Given the description of an element on the screen output the (x, y) to click on. 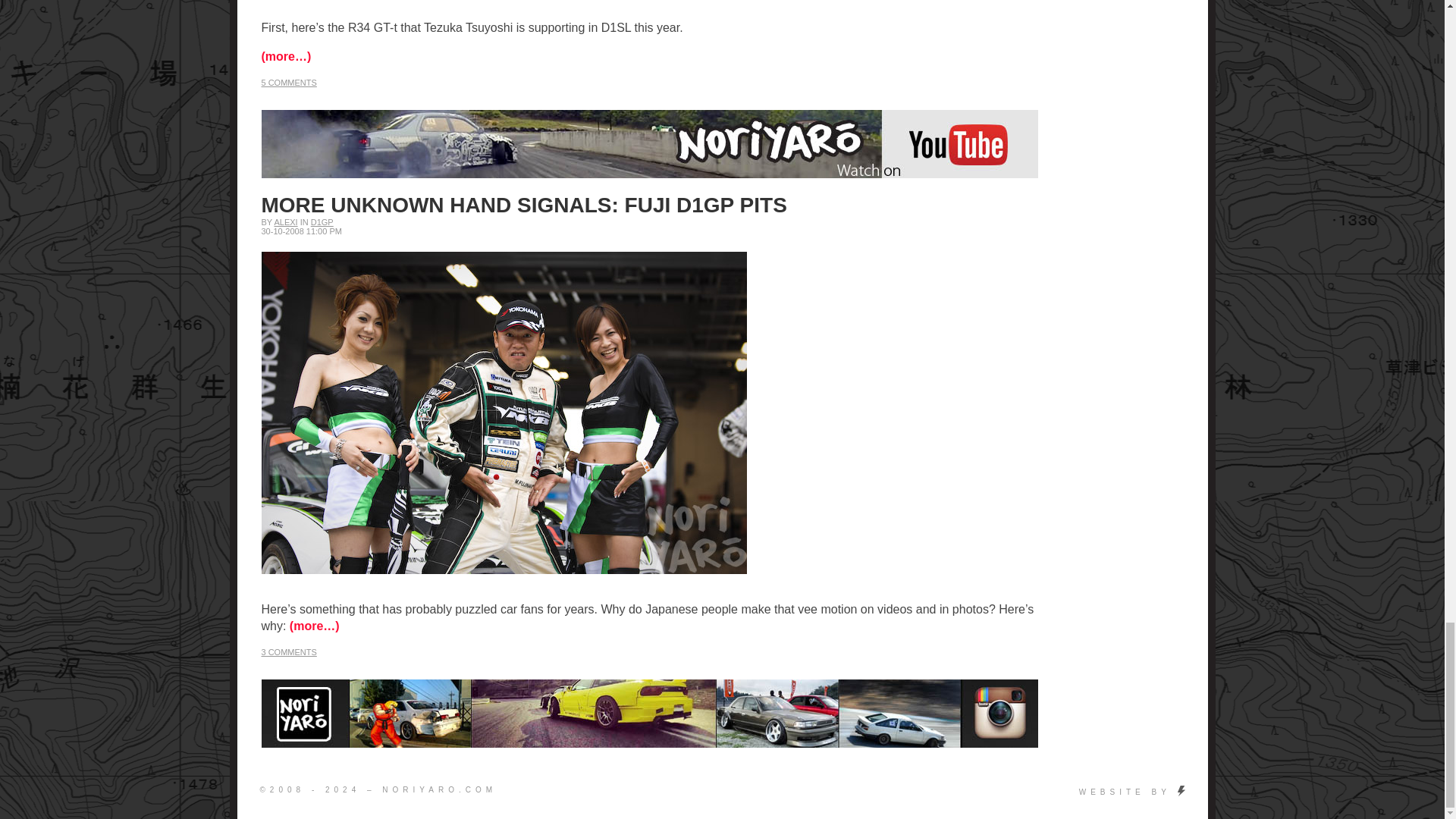
ALEXI (285, 221)
3 COMMENTS (287, 651)
5 COMMENTS (287, 81)
Posts by Alexi (285, 221)
MORE UNKNOWN HAND SIGNALS: FUJI D1GP PITS (523, 205)
MORE UNKNOWN HAND SIGNALS: Fuji D1GP pits (523, 205)
D1GP (322, 221)
